Given the description of an element on the screen output the (x, y) to click on. 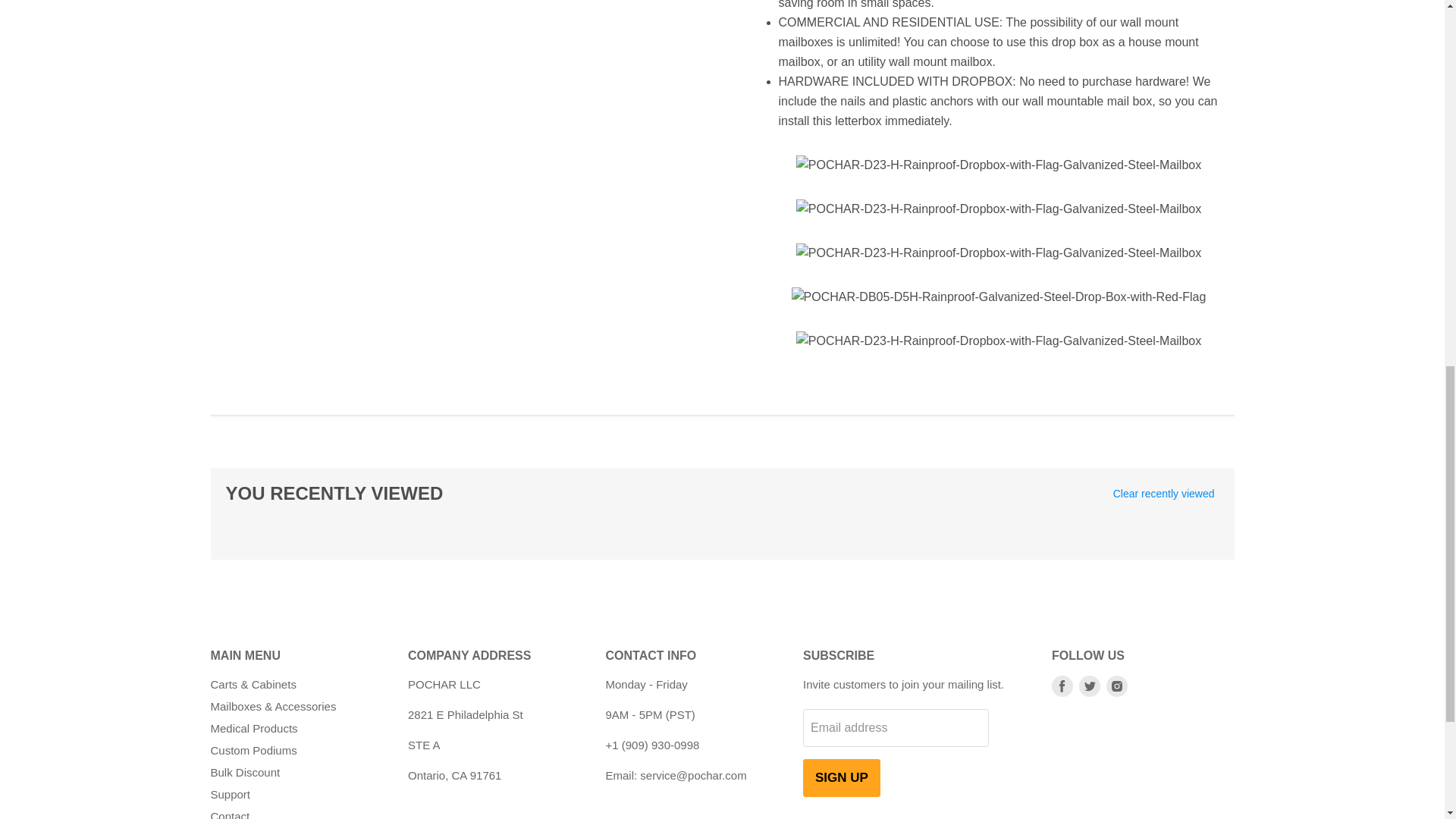
Instagram (1116, 685)
Twitter (1089, 685)
Facebook (1062, 685)
